Given the description of an element on the screen output the (x, y) to click on. 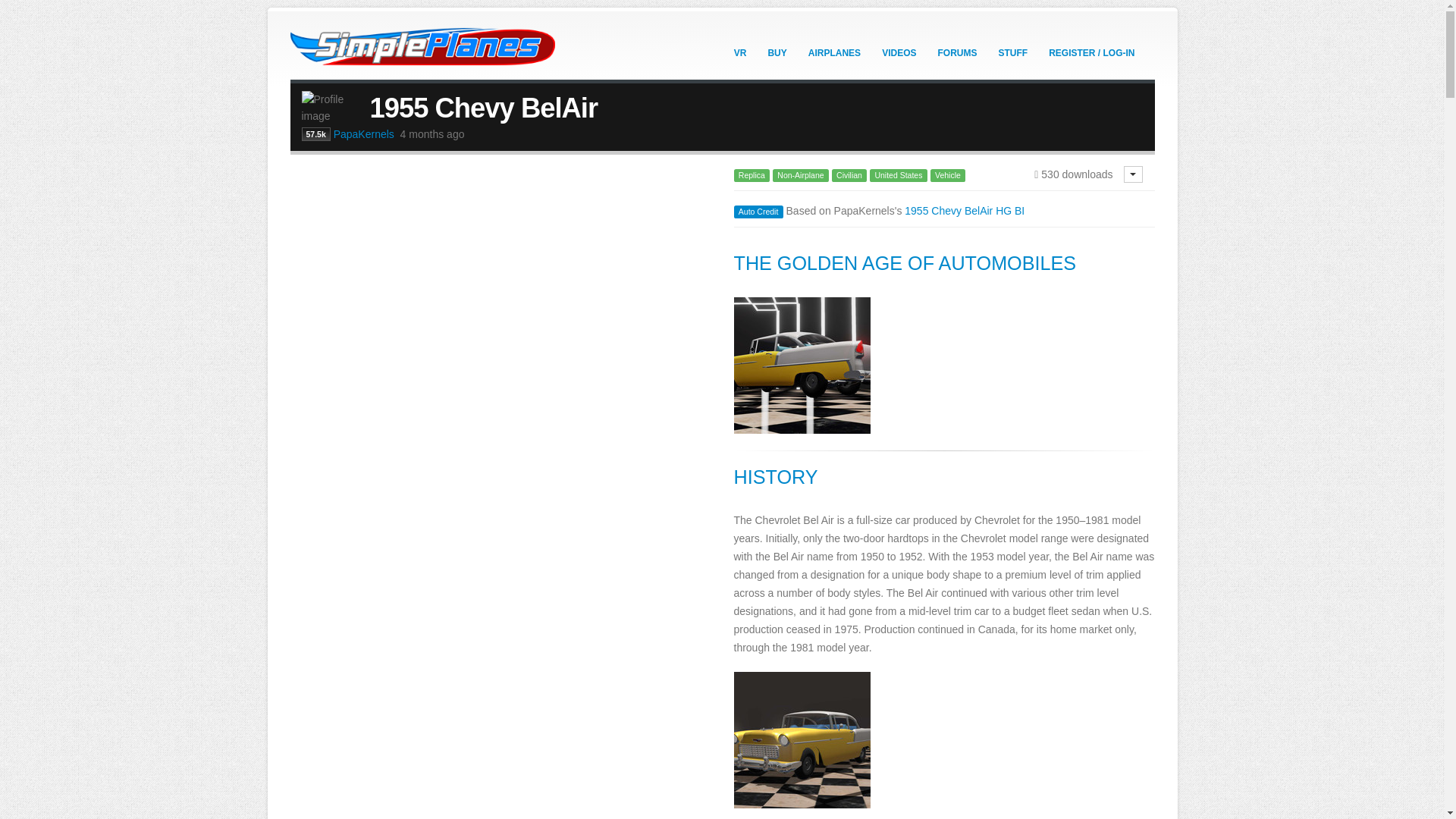
VR (740, 52)
FORUMS (957, 52)
Civilian (848, 174)
Vehicle (947, 174)
Replica (751, 174)
BUY (776, 52)
VIDEOS (899, 52)
AIRPLANES (833, 52)
Non-Airplane (800, 174)
PapaKernels (363, 133)
